Given the description of an element on the screen output the (x, y) to click on. 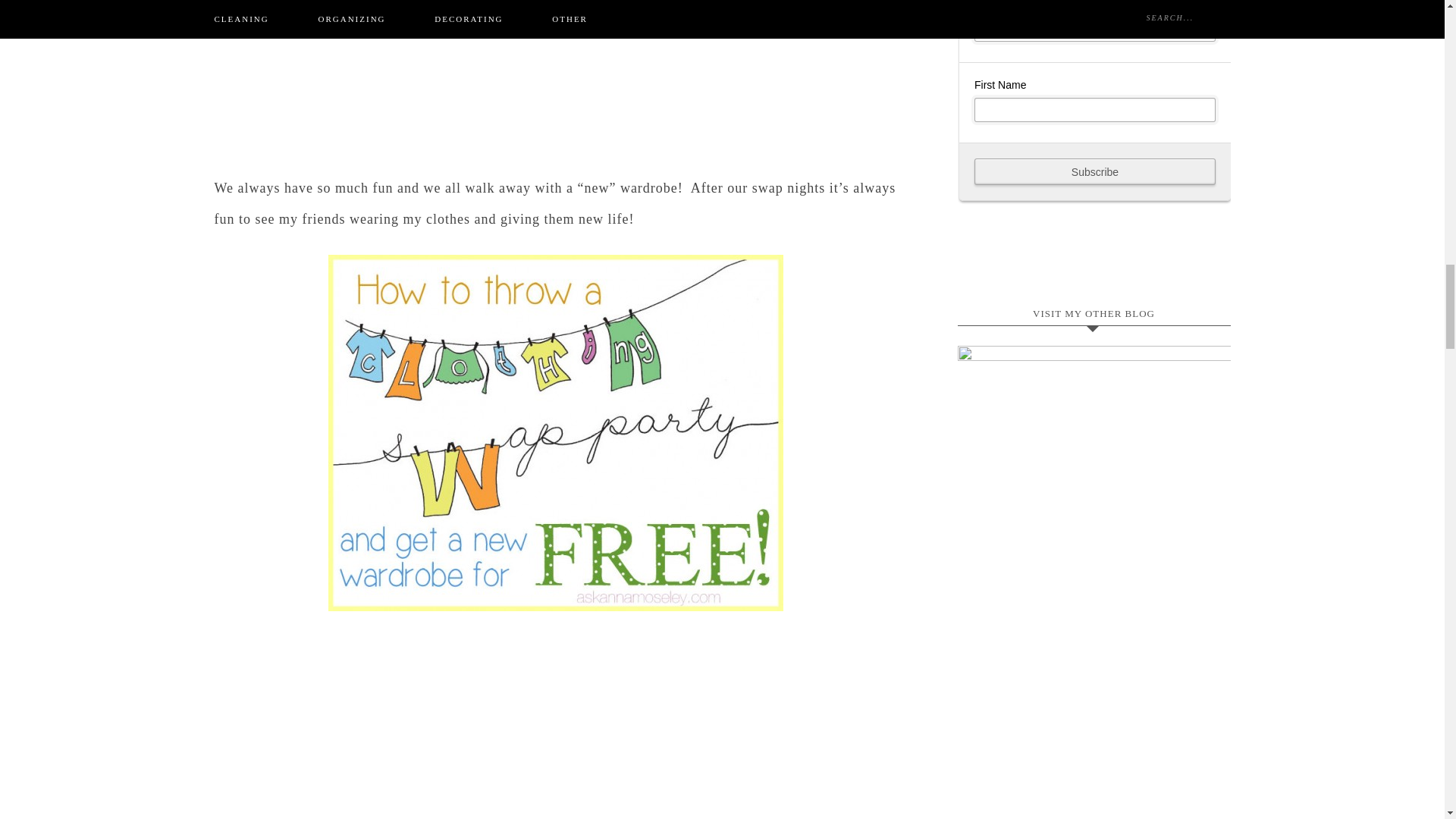
Visit my other blog (1093, 391)
